Given the description of an element on the screen output the (x, y) to click on. 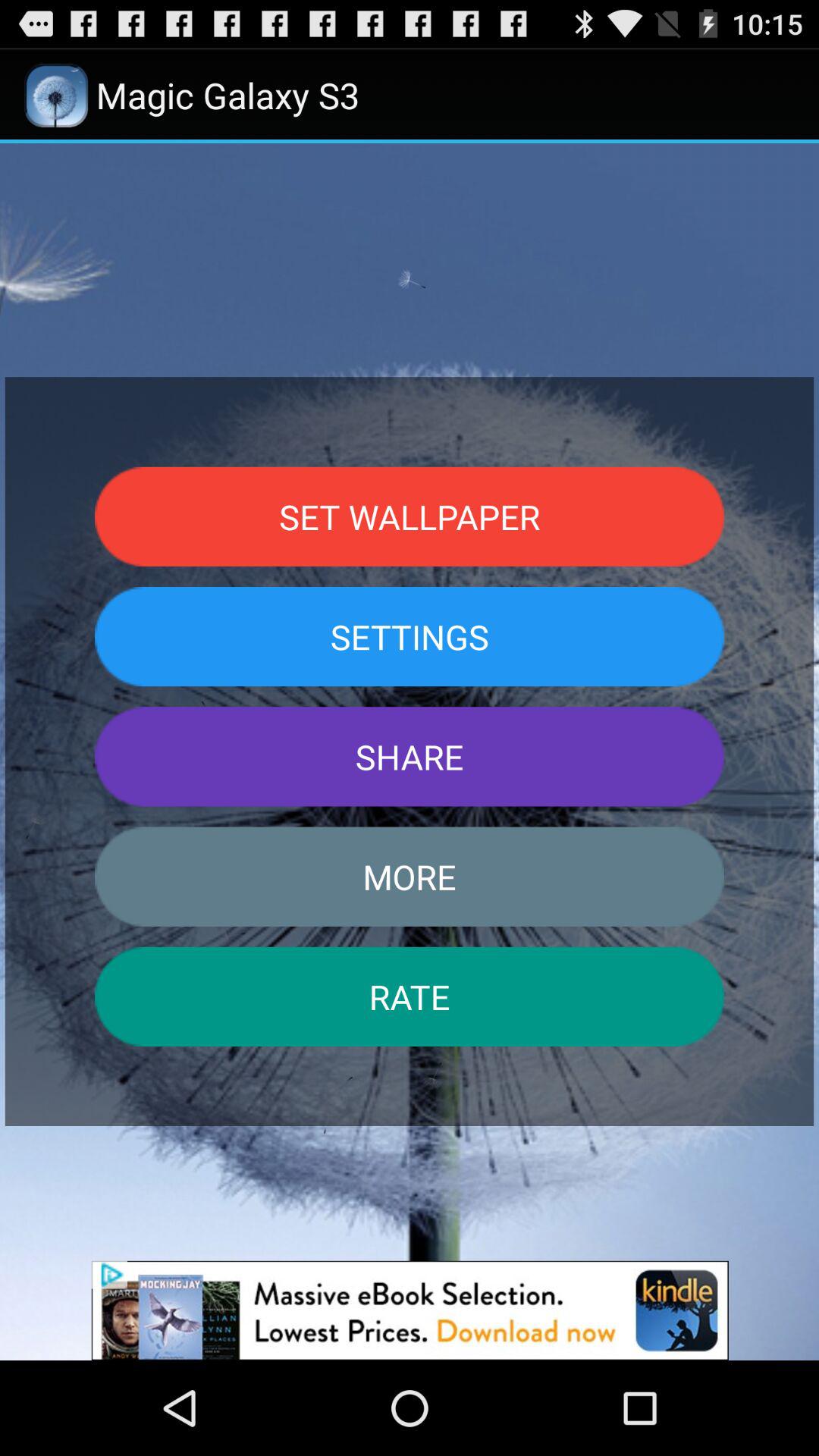
turn off the settings button (409, 636)
